Given the description of an element on the screen output the (x, y) to click on. 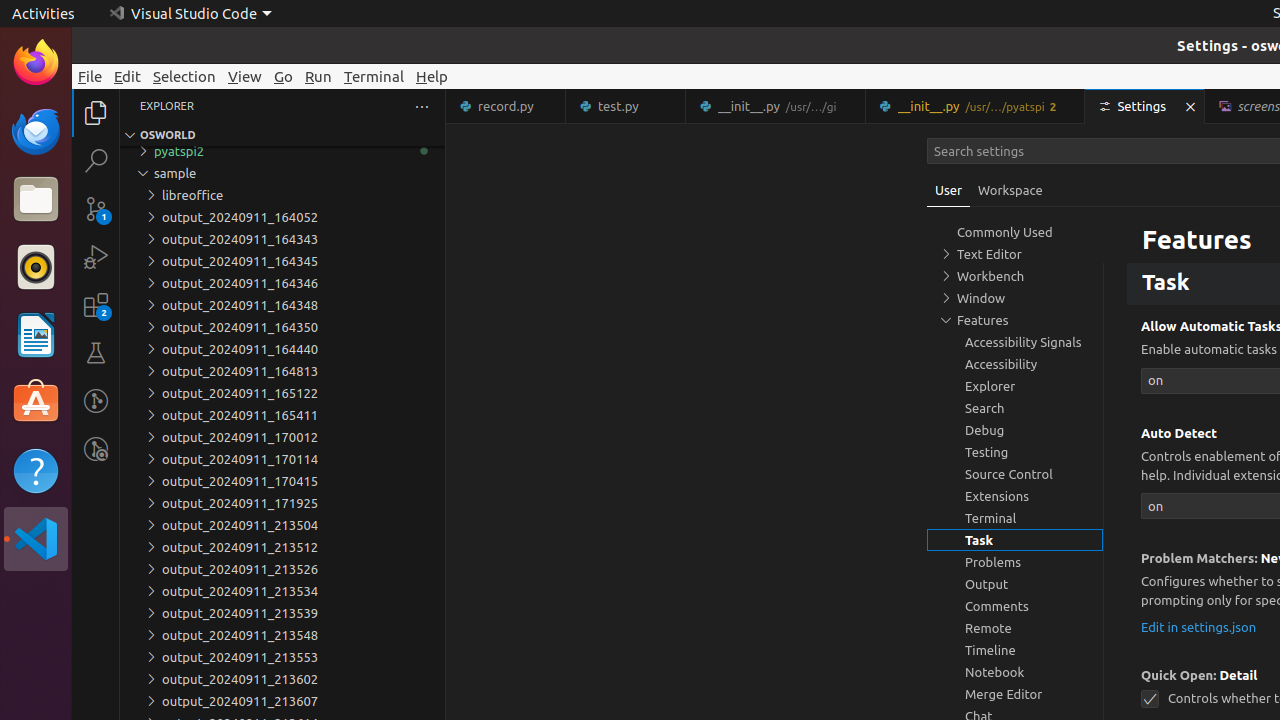
Edit Element type: push-button (127, 76)
output_20240911_170114 Element type: tree-item (282, 459)
output_20240911_213607 Element type: tree-item (282, 701)
